Given the description of an element on the screen output the (x, y) to click on. 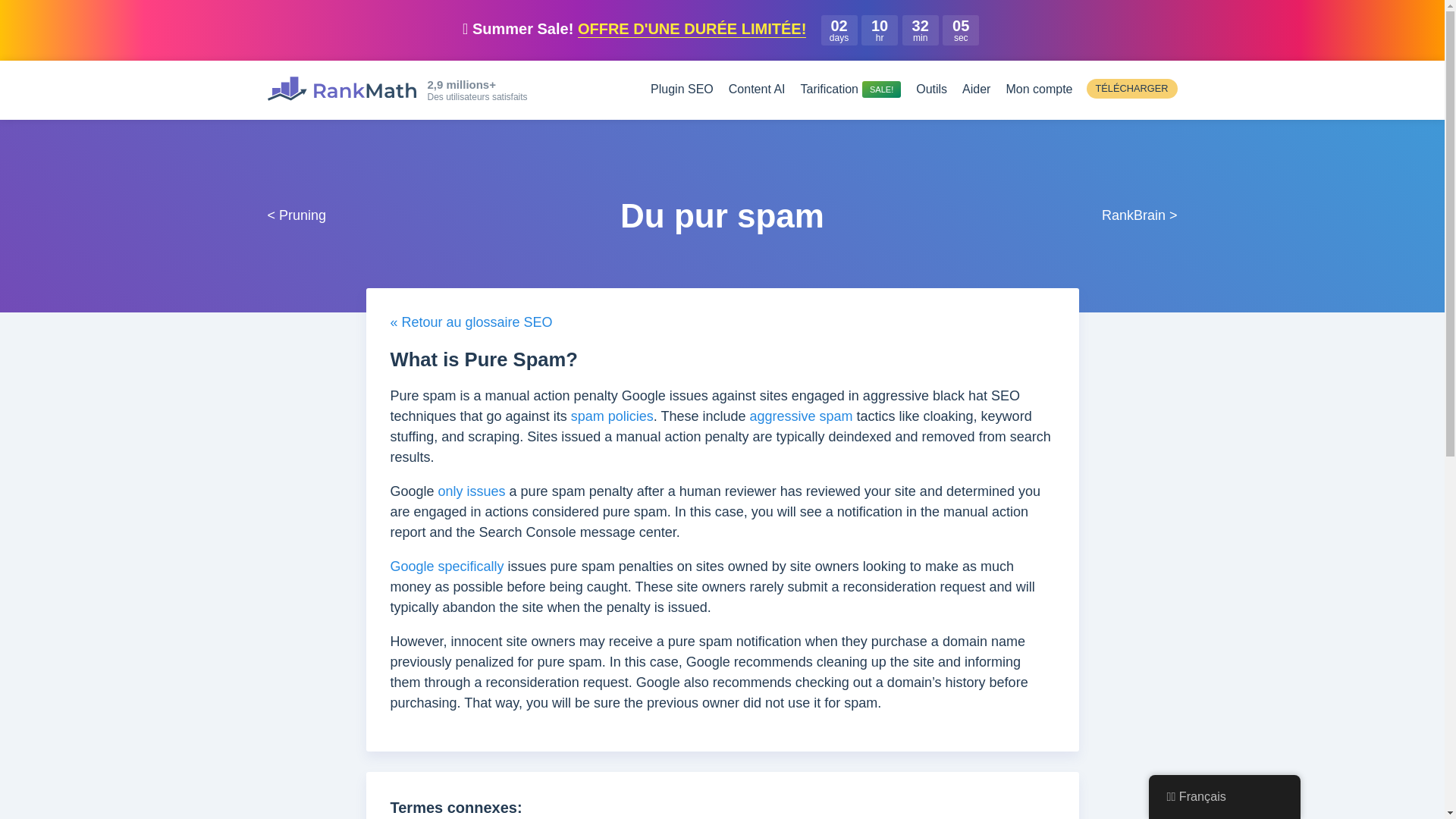
spam policies (611, 416)
aggressive spam (800, 416)
only issues (471, 491)
Tarification (850, 88)
Plugin SEO (681, 88)
Google specifically (446, 566)
Content AI (757, 88)
Mon compte (1038, 88)
